Given the description of an element on the screen output the (x, y) to click on. 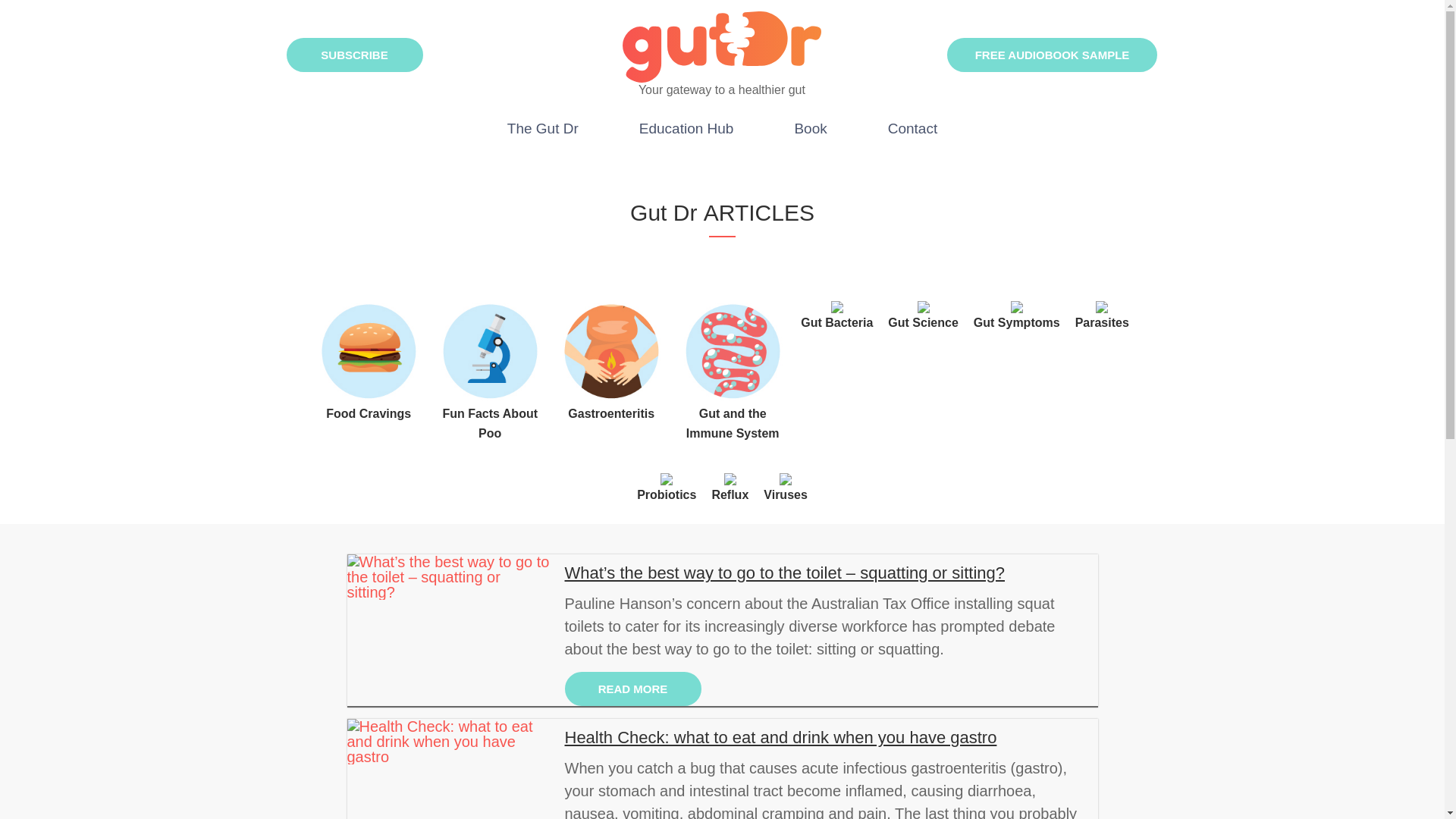
Parasites (1102, 314)
Gut and the Immune System (732, 392)
FREE AUDIOBOOK SAMPLE (1052, 54)
Gastroenteritis (610, 382)
Health Check: what to eat and drink when you have gastro (826, 737)
Viruses (785, 487)
The Gut Dr (542, 130)
Gut Science (923, 314)
Reflux (729, 487)
READ MORE (632, 688)
